Given the description of an element on the screen output the (x, y) to click on. 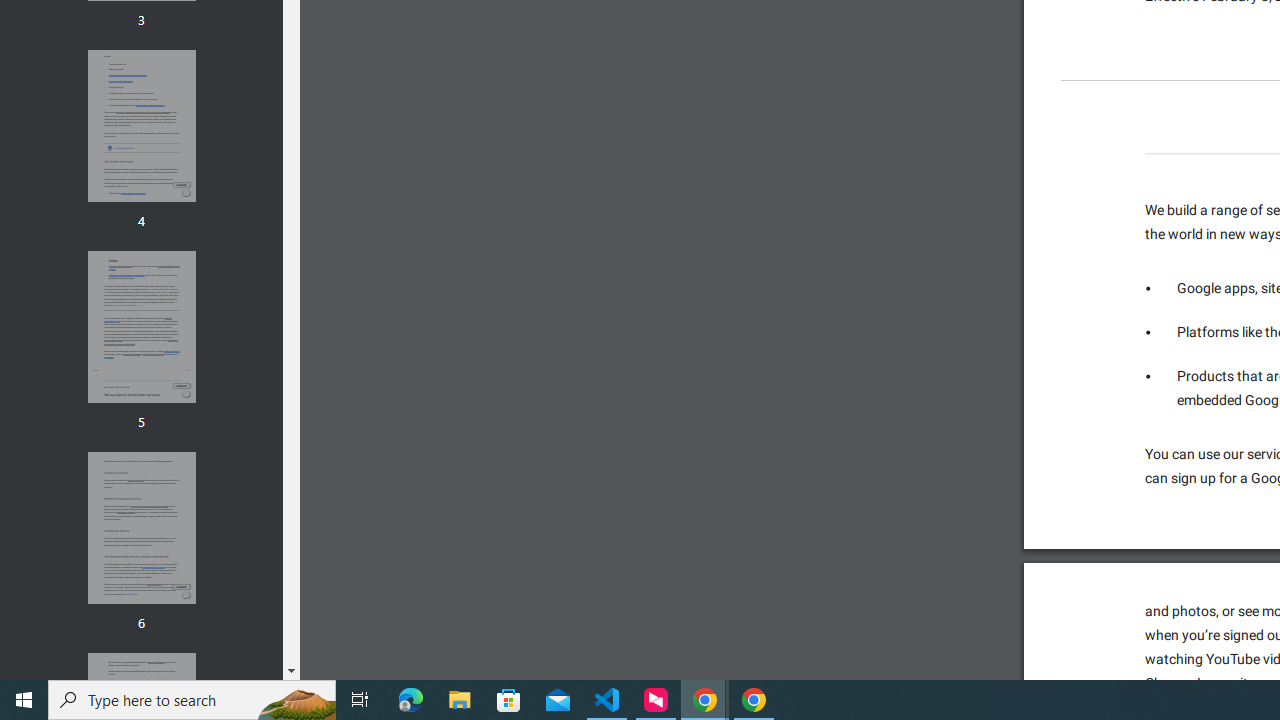
Thumbnail for page 5 (141, 326)
Thumbnail for page 4 (141, 125)
AutomationID: thumbnail (141, 528)
Thumbnail for page 6 (141, 528)
